Given the description of an element on the screen output the (x, y) to click on. 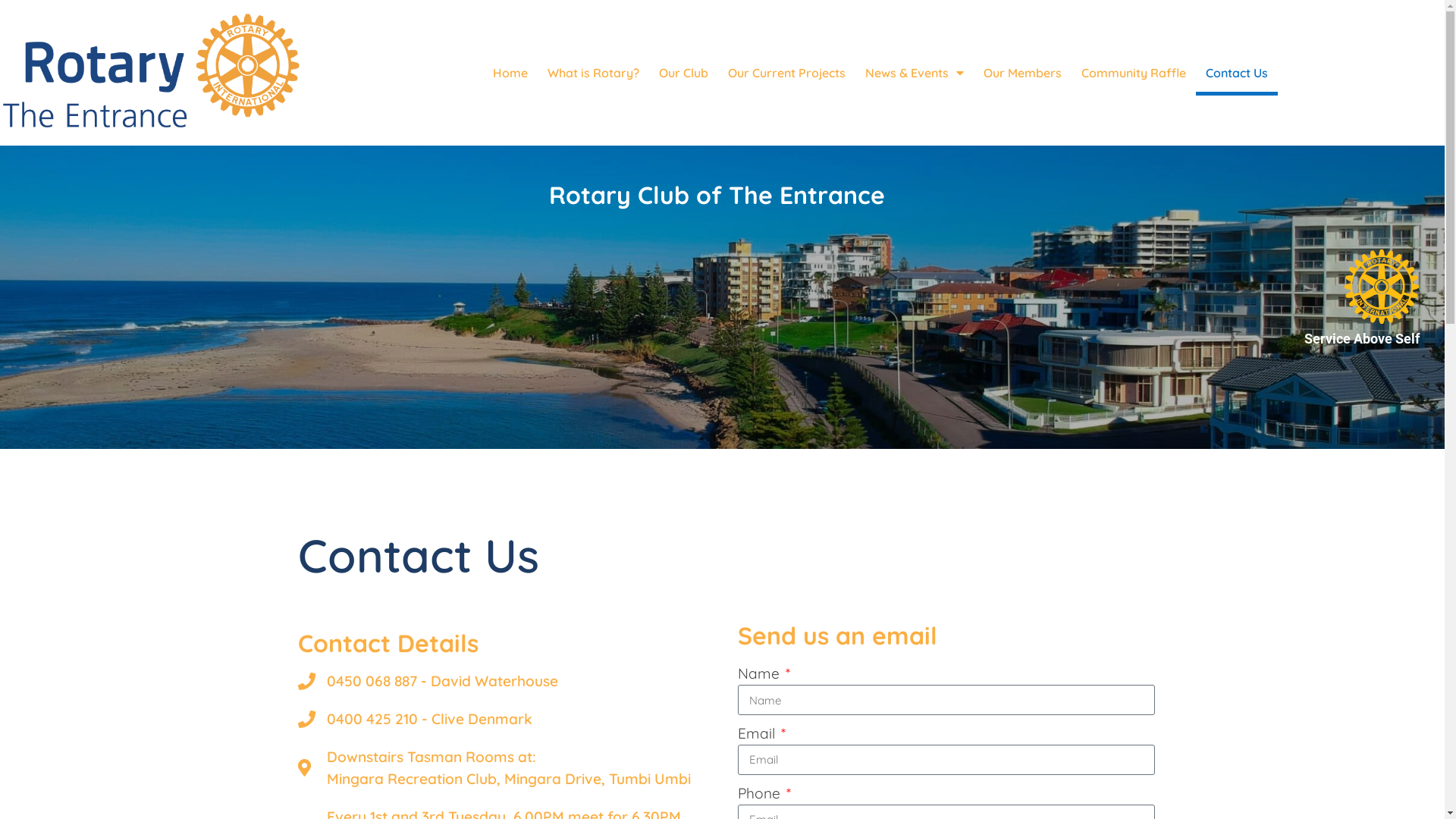
Community Raffle Element type: text (1133, 72)
0400 425 210 - Clive Denmark Element type: text (505, 719)
Contact Us Element type: text (1236, 72)
0450 068 887 - David Waterhouse Element type: text (505, 681)
What is Rotary? Element type: text (593, 72)
News & Events Element type: text (914, 72)
Our Club Element type: text (683, 72)
Our Current Projects Element type: text (786, 72)
Home Element type: text (510, 72)
Our Members Element type: text (1022, 72)
